Given the description of an element on the screen output the (x, y) to click on. 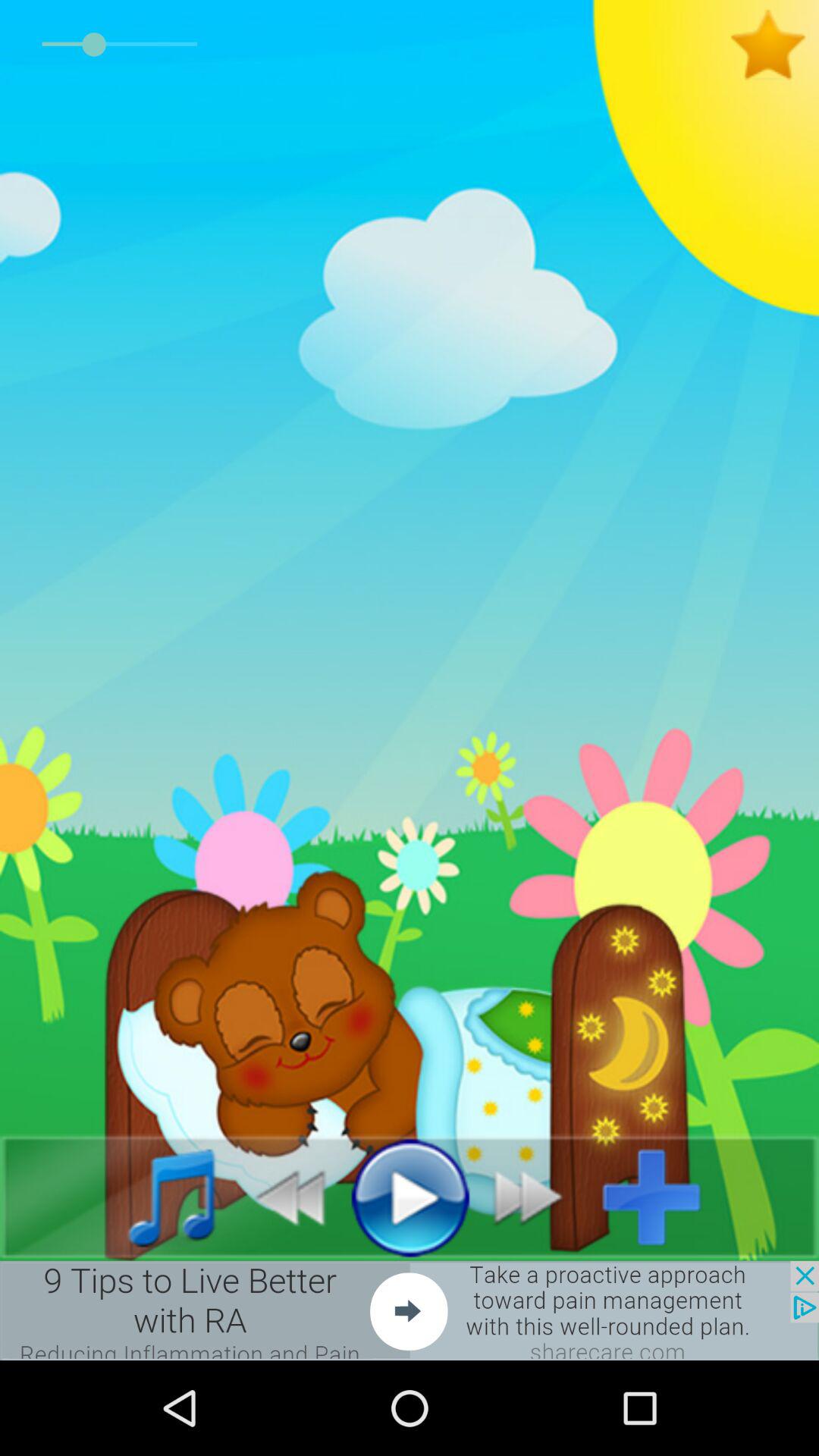
next song (536, 1196)
